Given the description of an element on the screen output the (x, y) to click on. 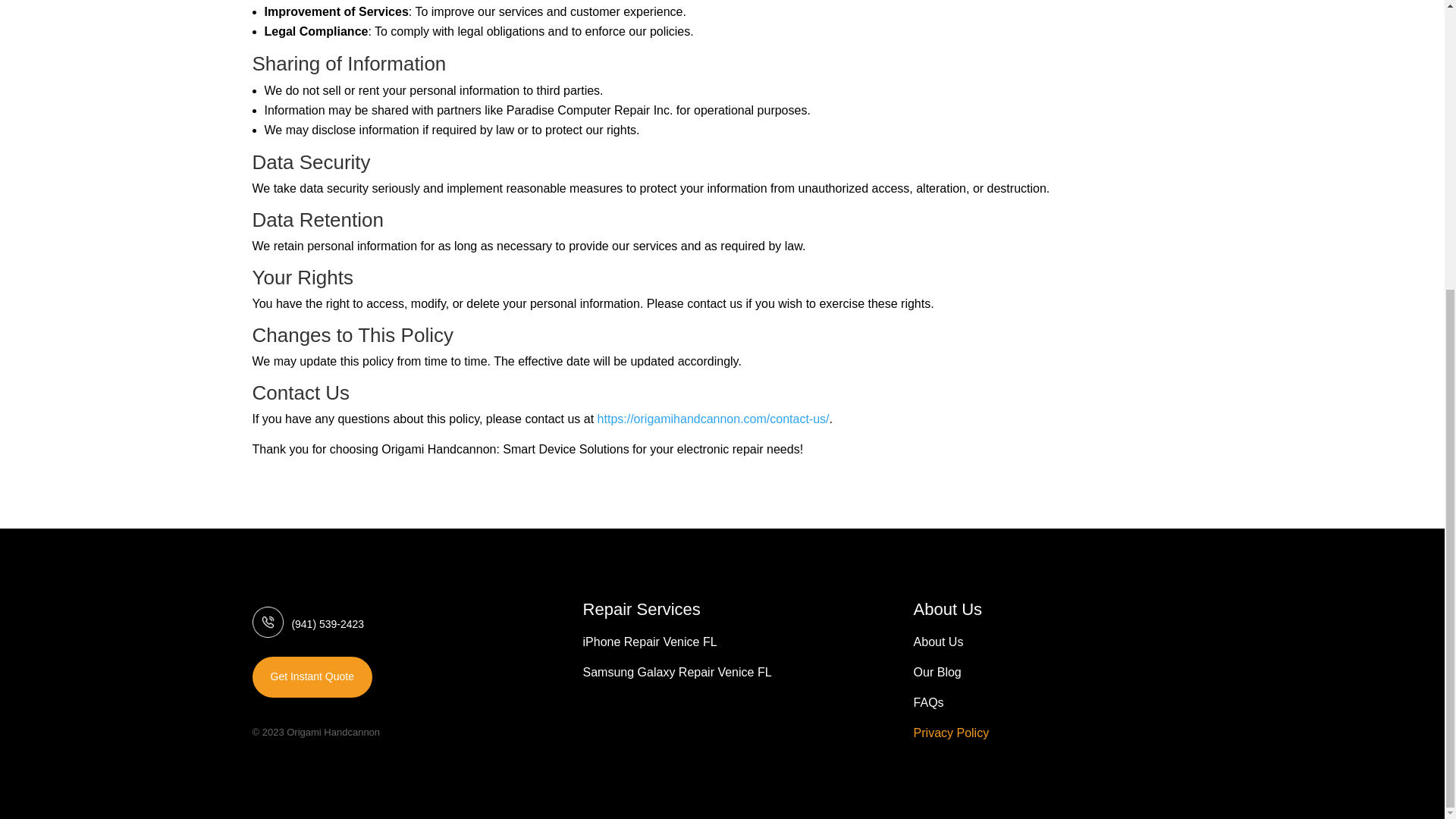
Samsung Galaxy Repair Venice FL (677, 675)
About Us (938, 645)
Get Instant Quote (311, 676)
FAQs (928, 705)
Our Blog (937, 675)
Privacy Policy (952, 735)
iPhone Repair Venice FL (650, 645)
